Given the description of an element on the screen output the (x, y) to click on. 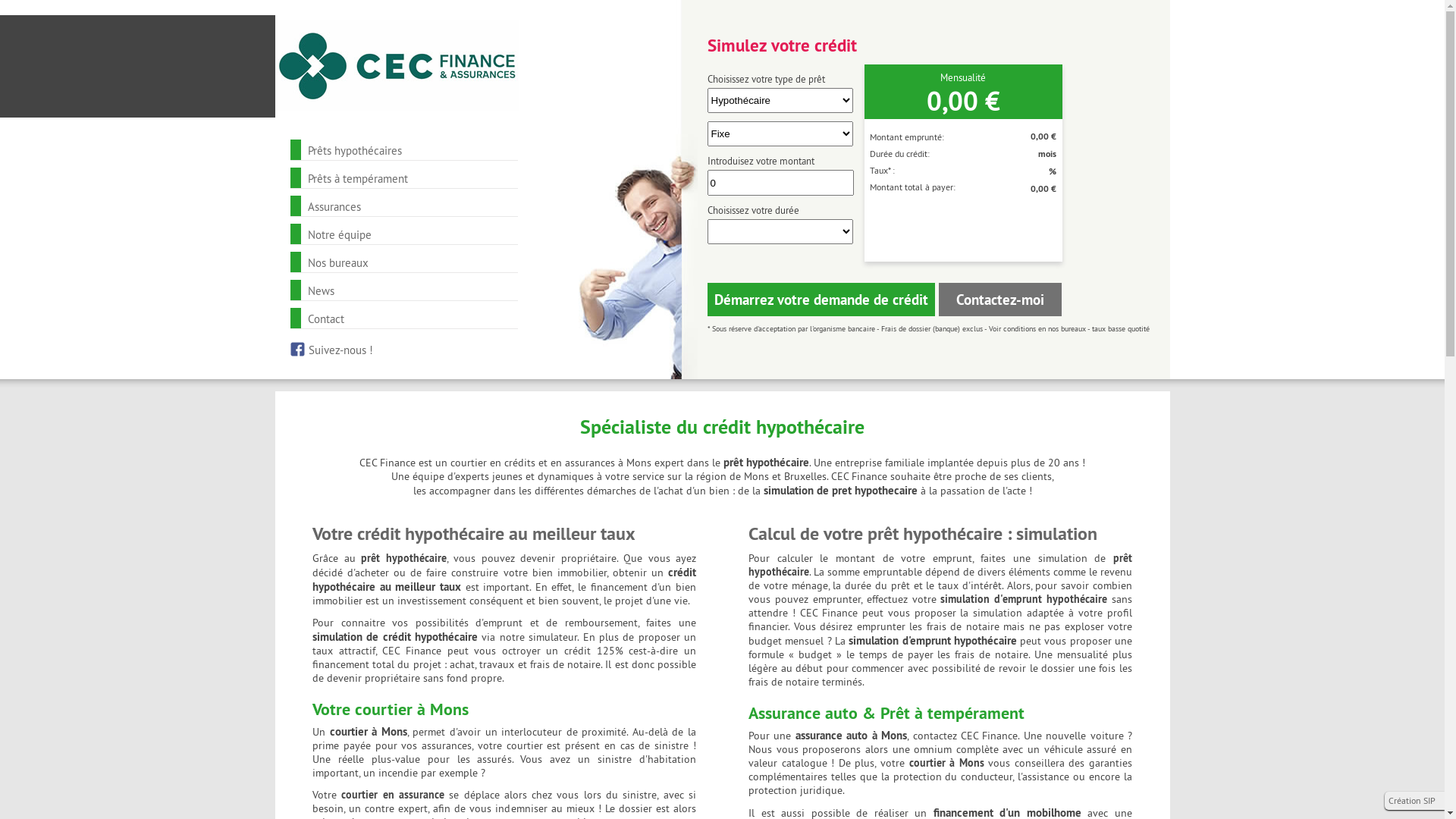
Contactez-moi Element type: text (999, 299)
Assurances Element type: text (333, 206)
Nos bureaux Element type: text (337, 262)
simulation de pret hypothecaire Element type: text (839, 490)
Suivez-nous ! Element type: text (339, 349)
Contact Element type: text (325, 318)
News Element type: text (320, 290)
